Given the description of an element on the screen output the (x, y) to click on. 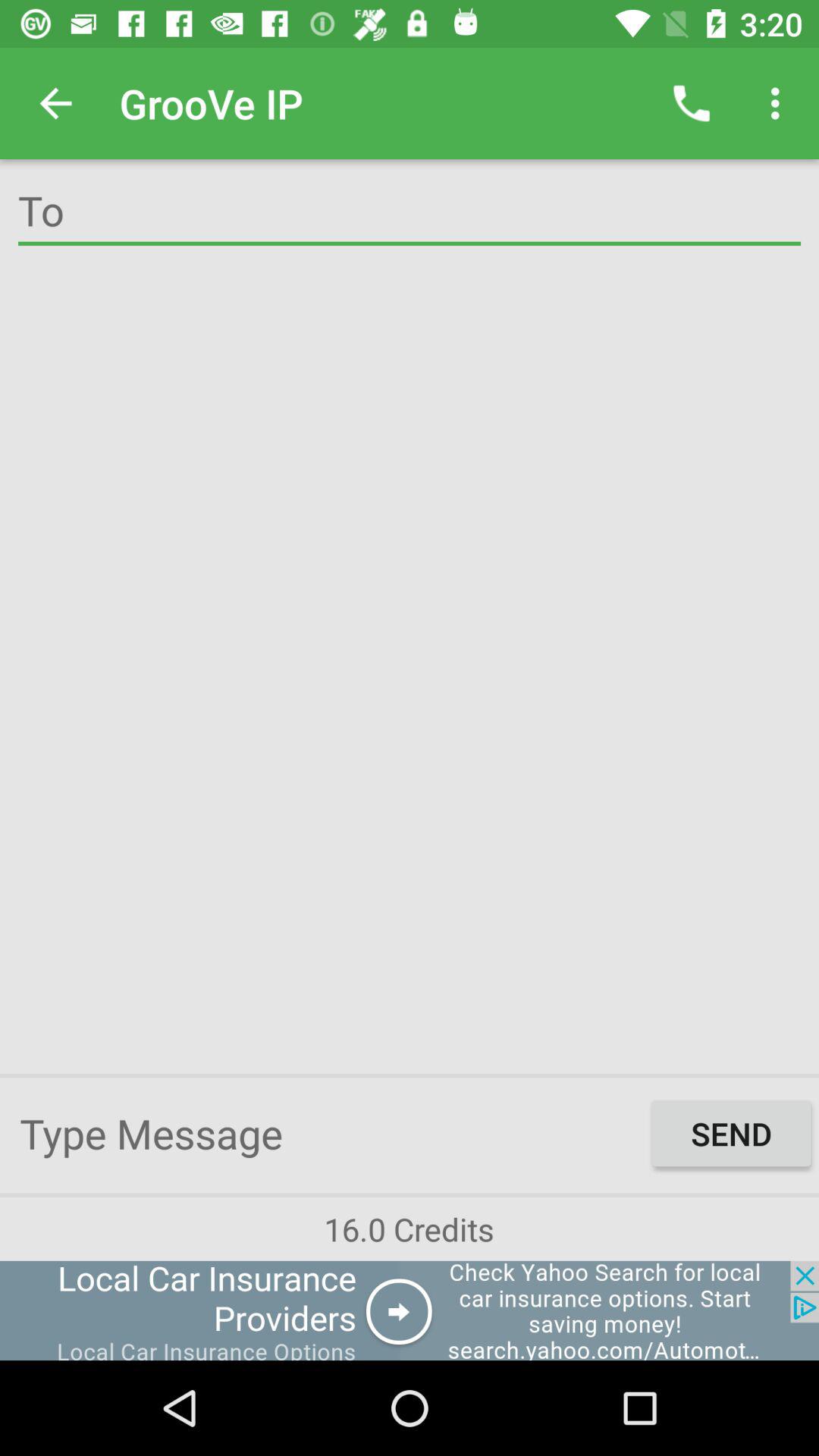
enter recipient phone number (409, 214)
